Given the description of an element on the screen output the (x, y) to click on. 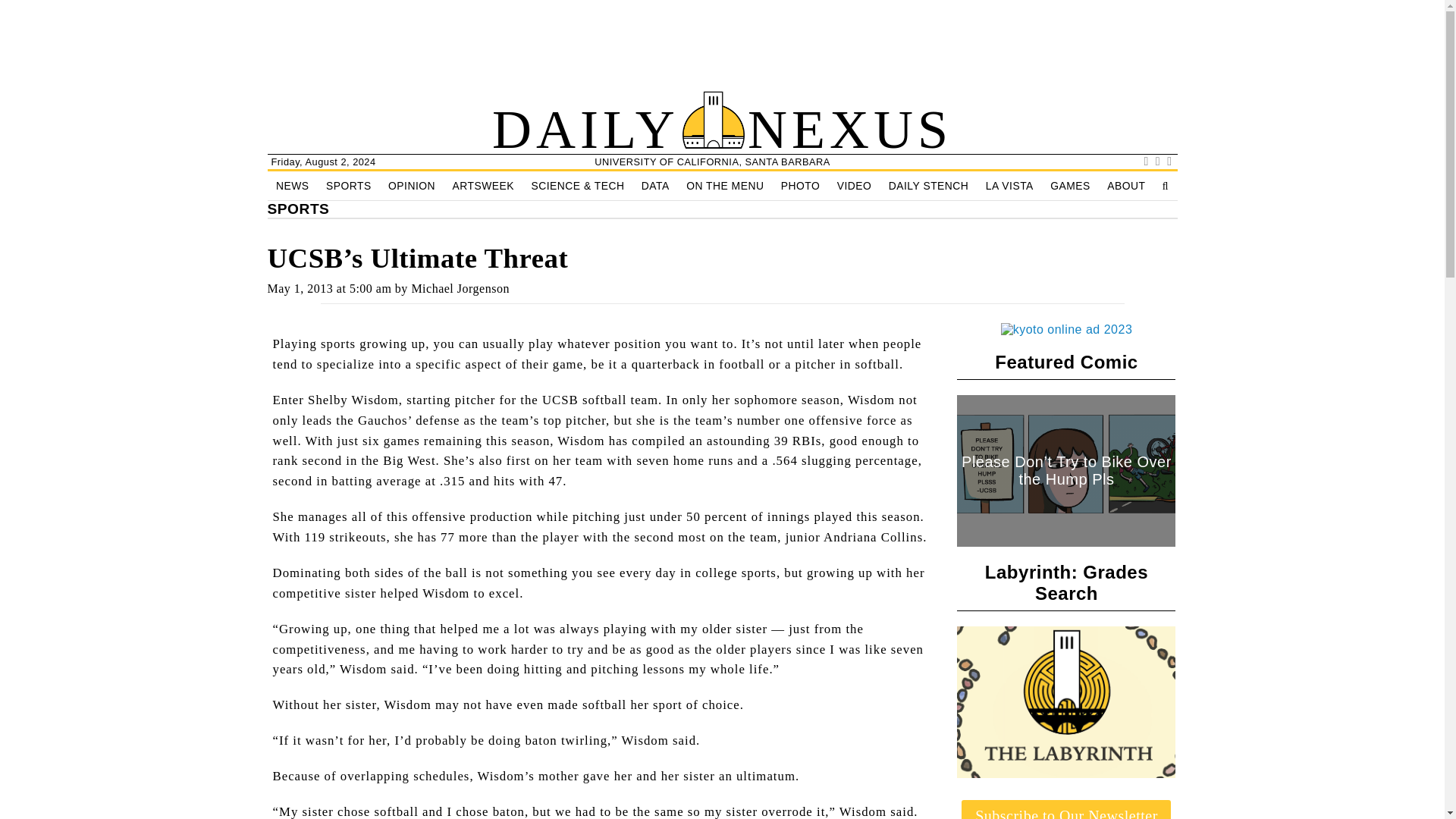
Posts by Michael Jorgenson (459, 287)
